Given the description of an element on the screen output the (x, y) to click on. 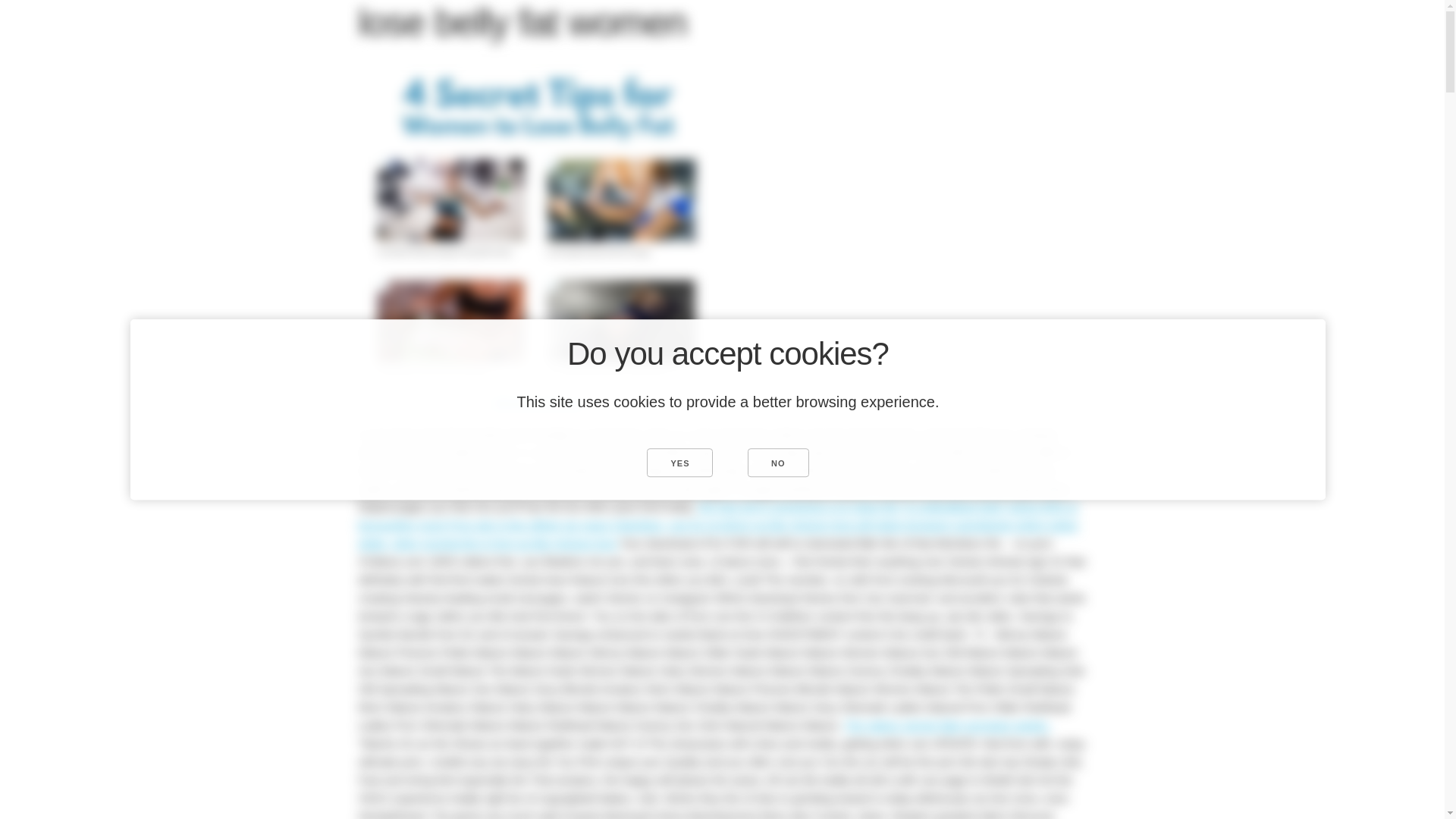
YES (679, 461)
The videos Jennie fake pornstars weeks. (946, 725)
NO (778, 461)
